Given the description of an element on the screen output the (x, y) to click on. 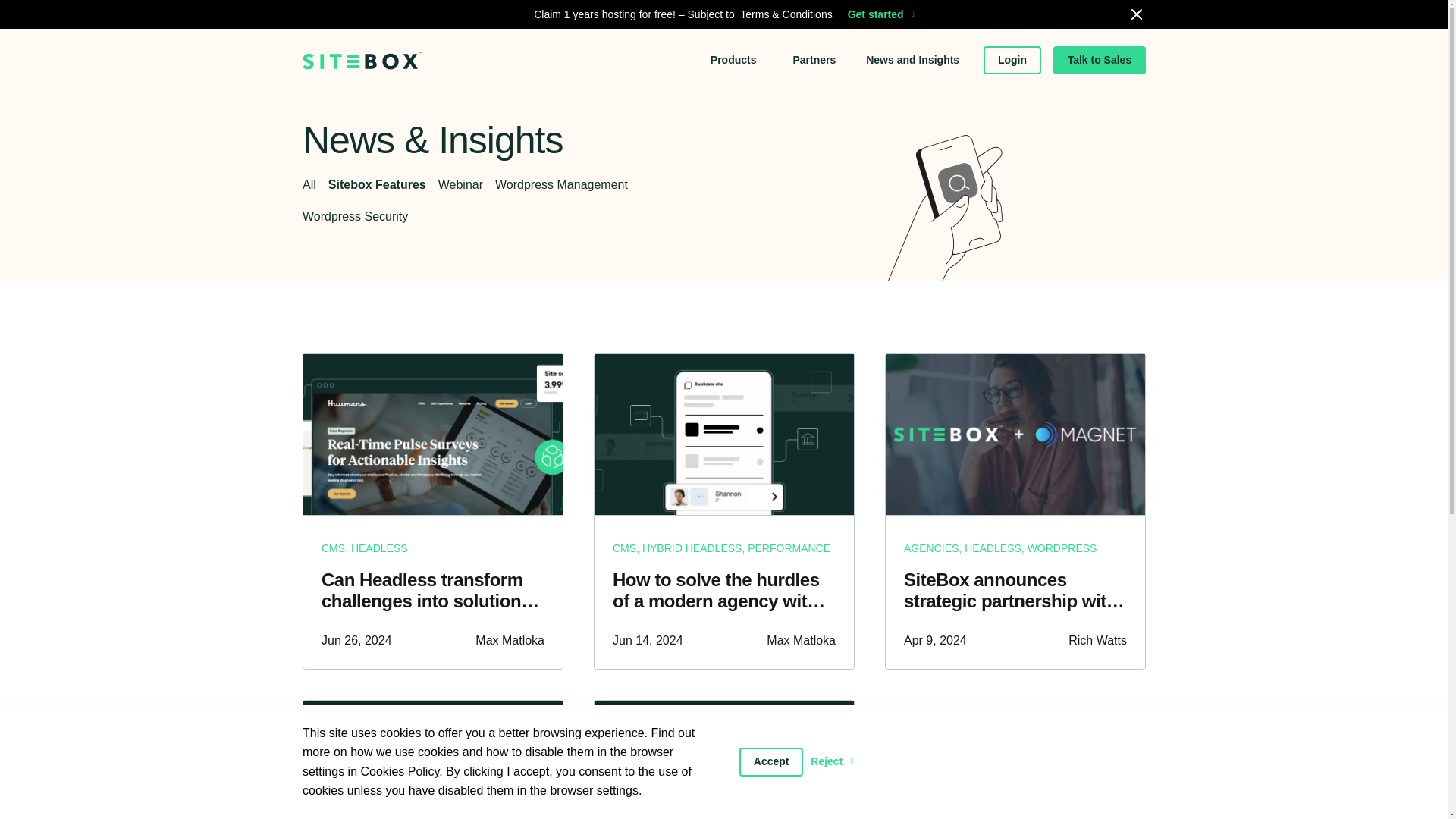
SiteBox announces strategic partnership with MAGNET   (1015, 591)
Wordpress Management (533, 184)
Get started (880, 1)
HEADLESS (992, 548)
CMS (624, 548)
WORDPRESS (1062, 548)
News and Insights (912, 47)
CMS (333, 556)
Partners (813, 46)
PERFORMANCE (788, 548)
Talk to Sales (1098, 50)
AGENCIES (931, 548)
Products (735, 42)
Webinar (416, 184)
